Given the description of an element on the screen output the (x, y) to click on. 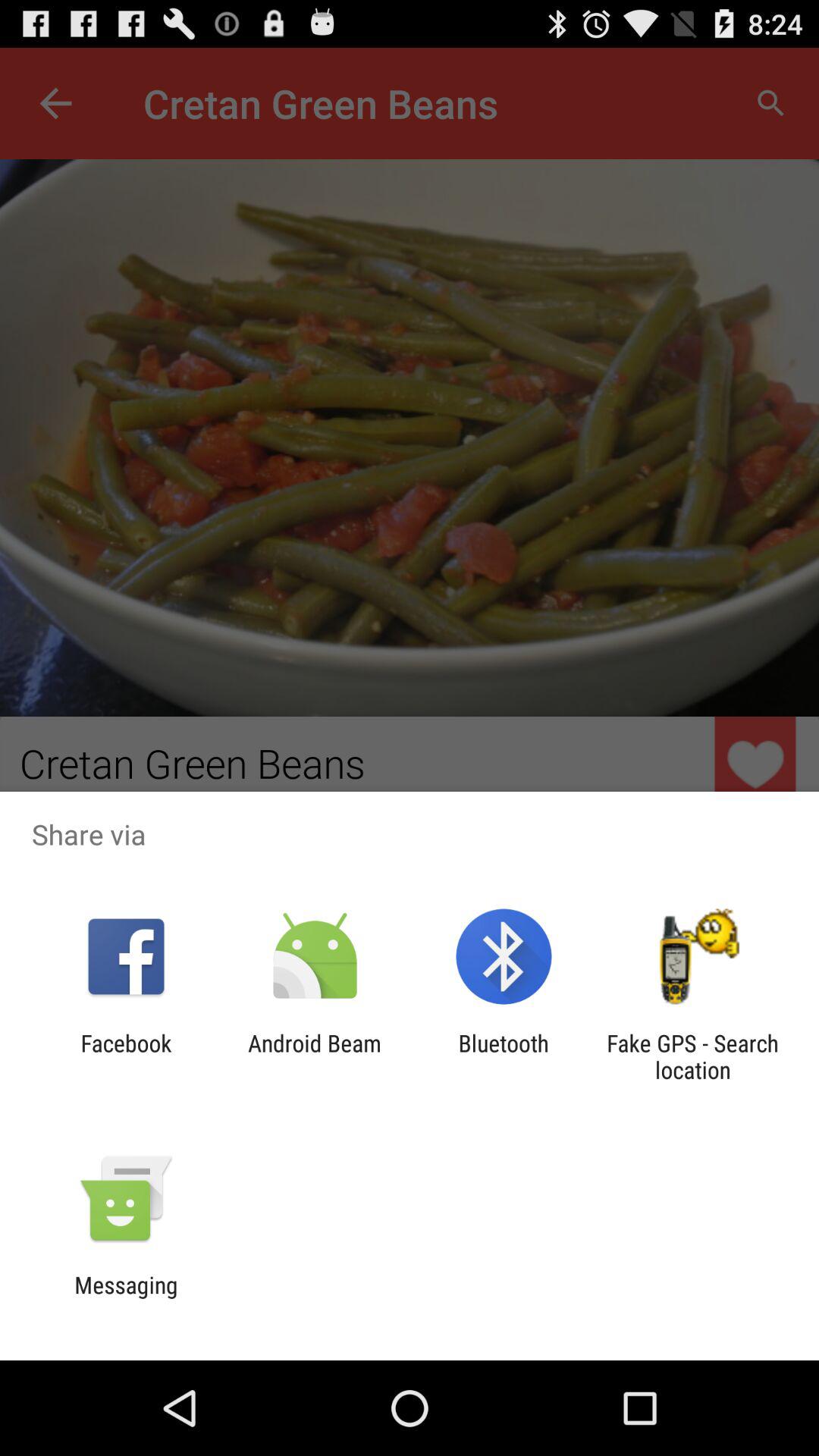
swipe until the facebook item (125, 1056)
